Given the description of an element on the screen output the (x, y) to click on. 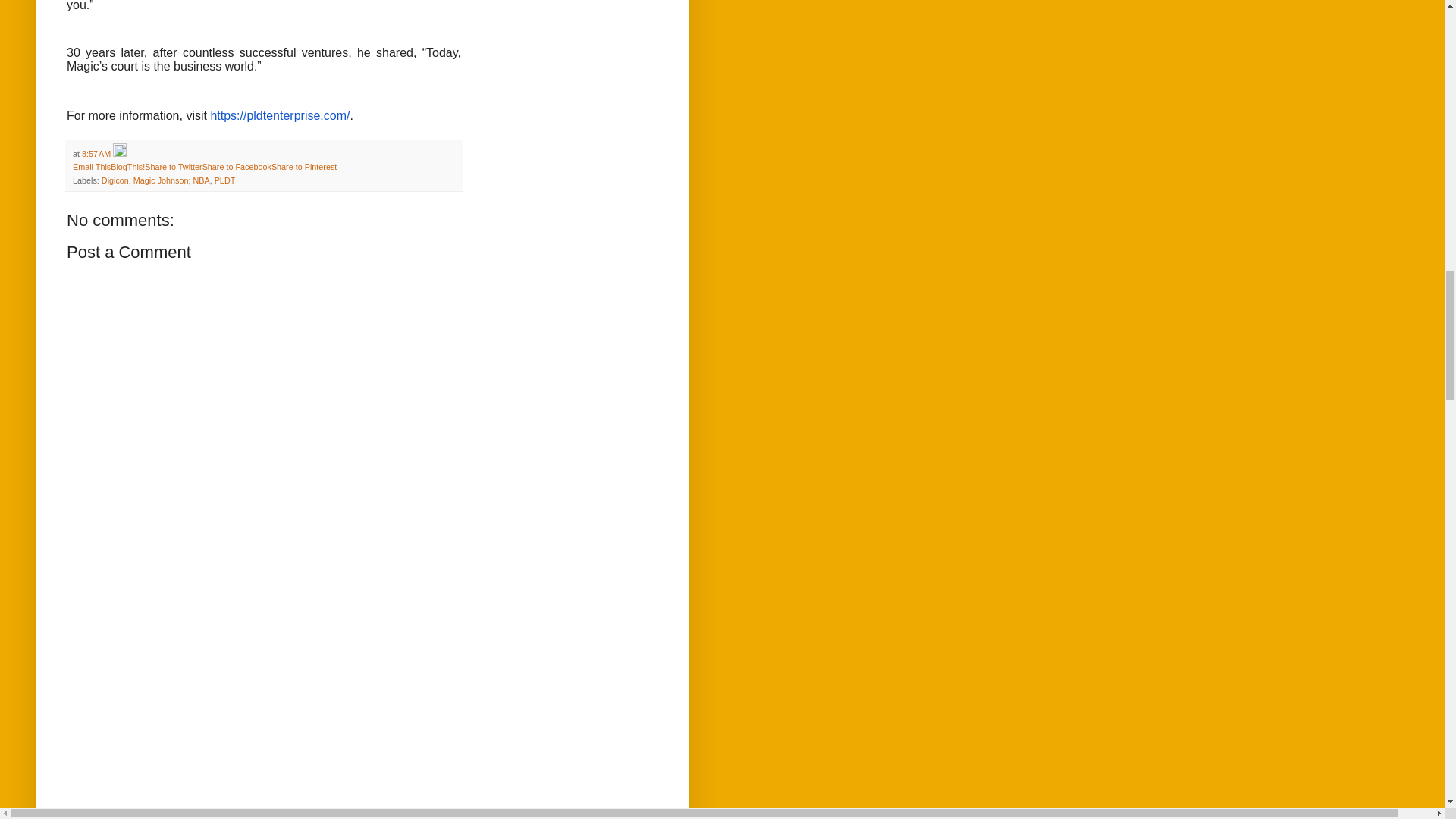
Newer Post (93, 810)
Share to Twitter (173, 166)
Email This (91, 166)
Home (192, 810)
Share to Pinterest (303, 166)
Share to Facebook (236, 166)
PLDT (224, 180)
Edit Post (119, 153)
BlogThis! (127, 166)
Share to Pinterest (303, 166)
Advertisement (263, 699)
permanent link (95, 153)
Digicon (115, 180)
Email This (91, 166)
